Given the description of an element on the screen output the (x, y) to click on. 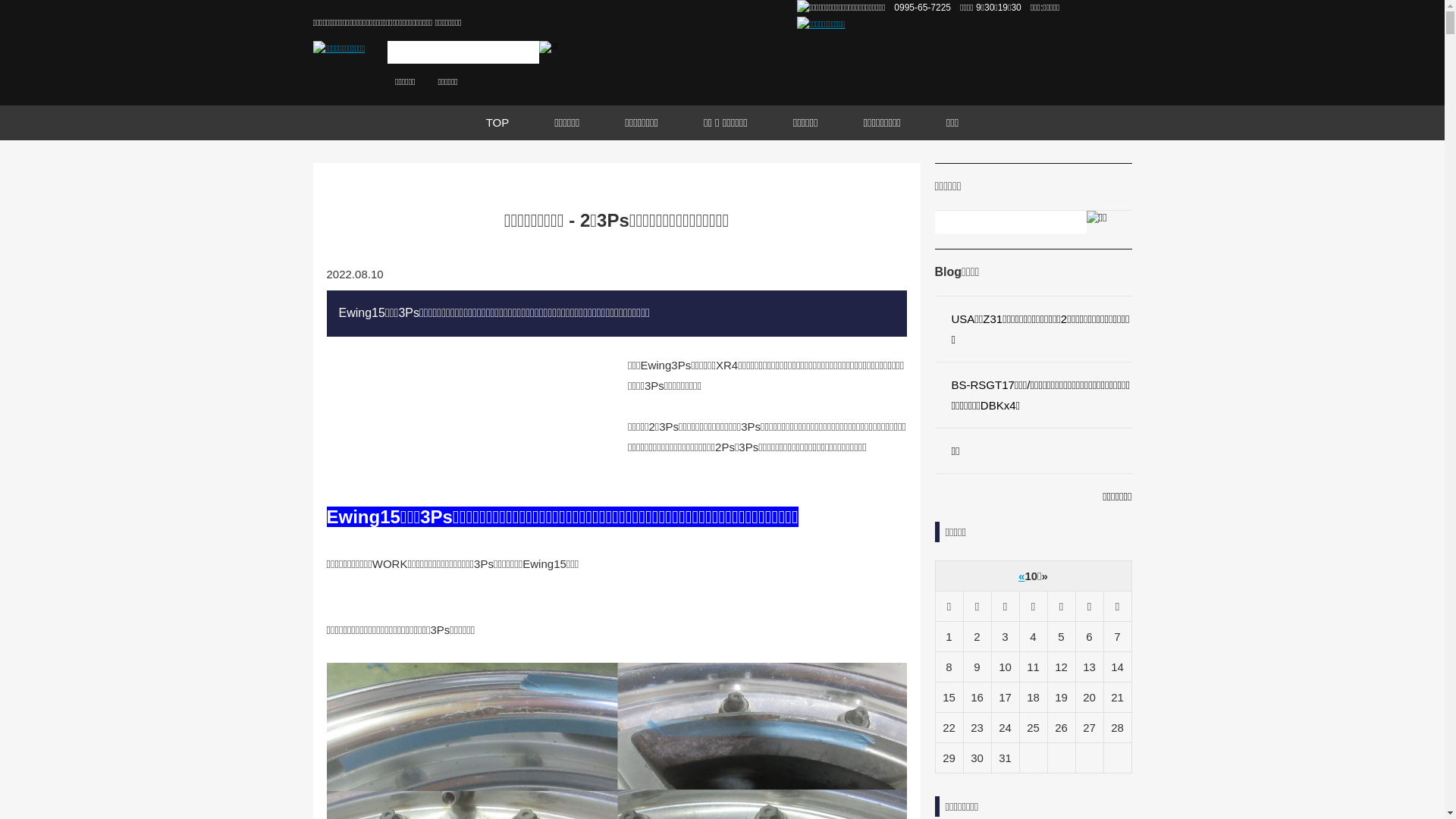
TOP Element type: text (497, 122)
